Given the description of an element on the screen output the (x, y) to click on. 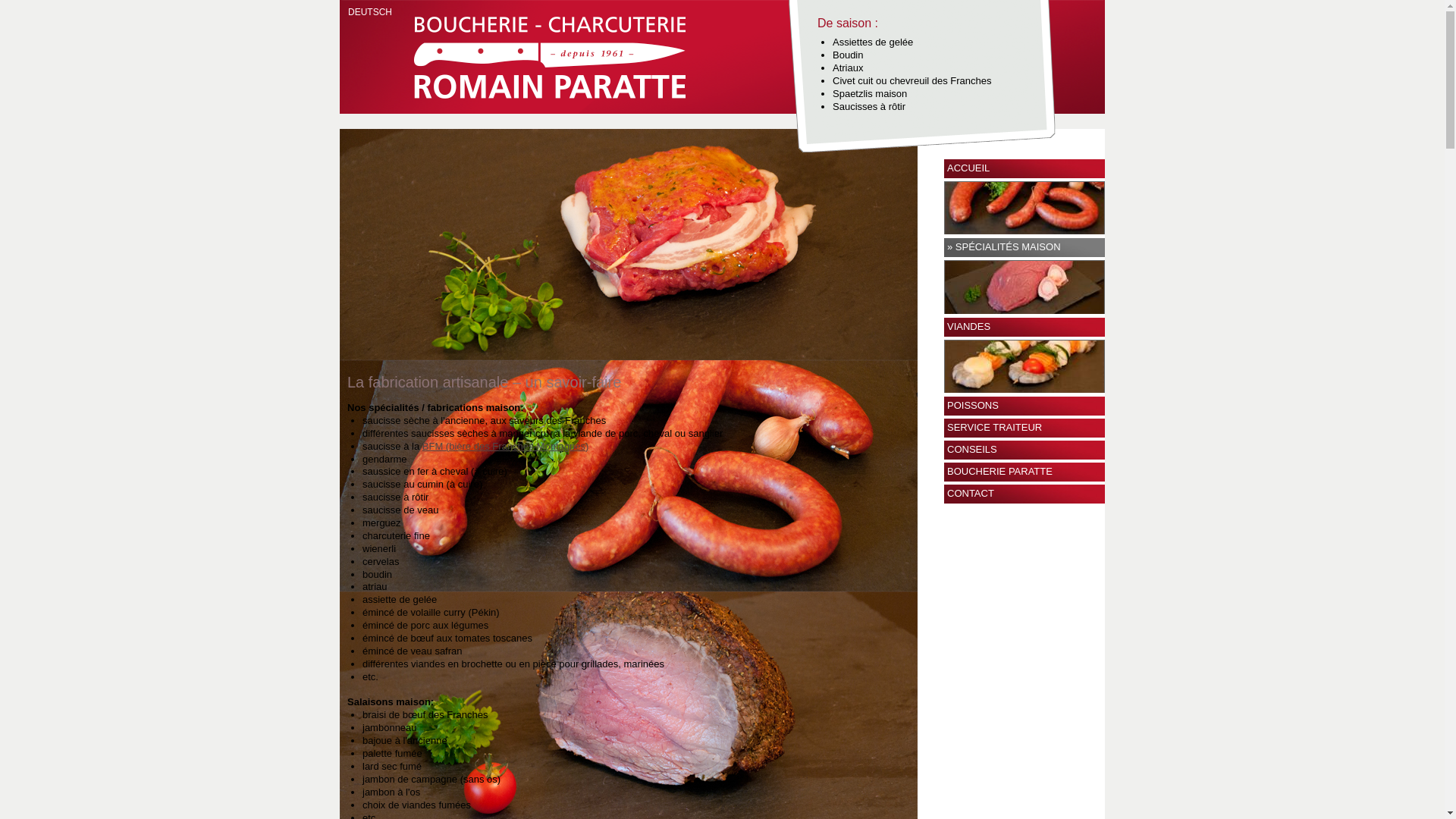
POISSONS Element type: text (1024, 399)
BOUCHERIE PARATTE Element type: text (1024, 471)
CONSEILS Element type: text (1024, 449)
DEUTSCH Element type: text (369, 12)
CONTACT Element type: text (1024, 493)
SERVICE TRAITEUR Element type: text (1024, 427)
VIANDES Element type: text (1024, 320)
ACCUEIL Element type: text (1024, 168)
